Given the description of an element on the screen output the (x, y) to click on. 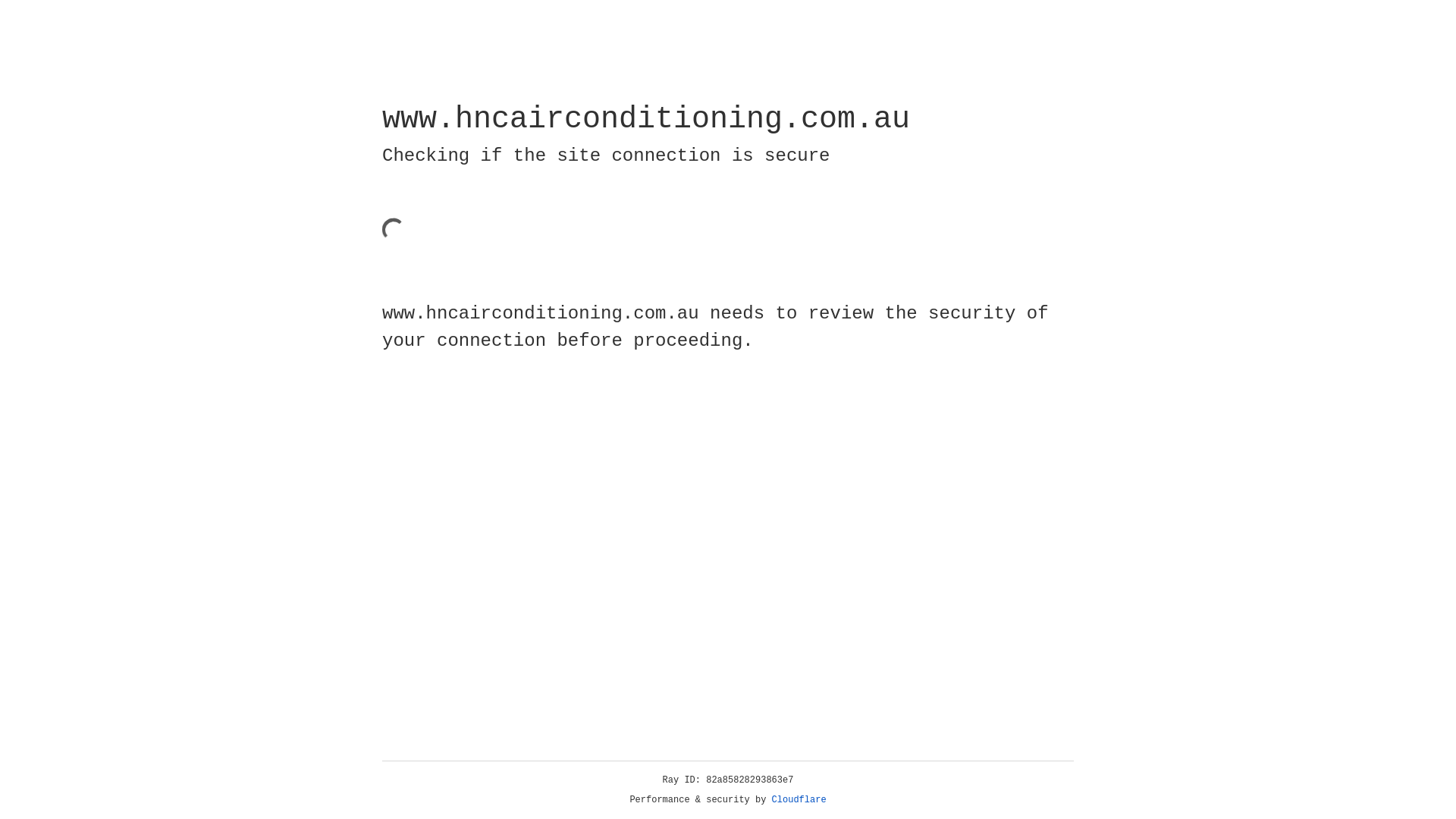
Cloudflare Element type: text (798, 799)
